Given the description of an element on the screen output the (x, y) to click on. 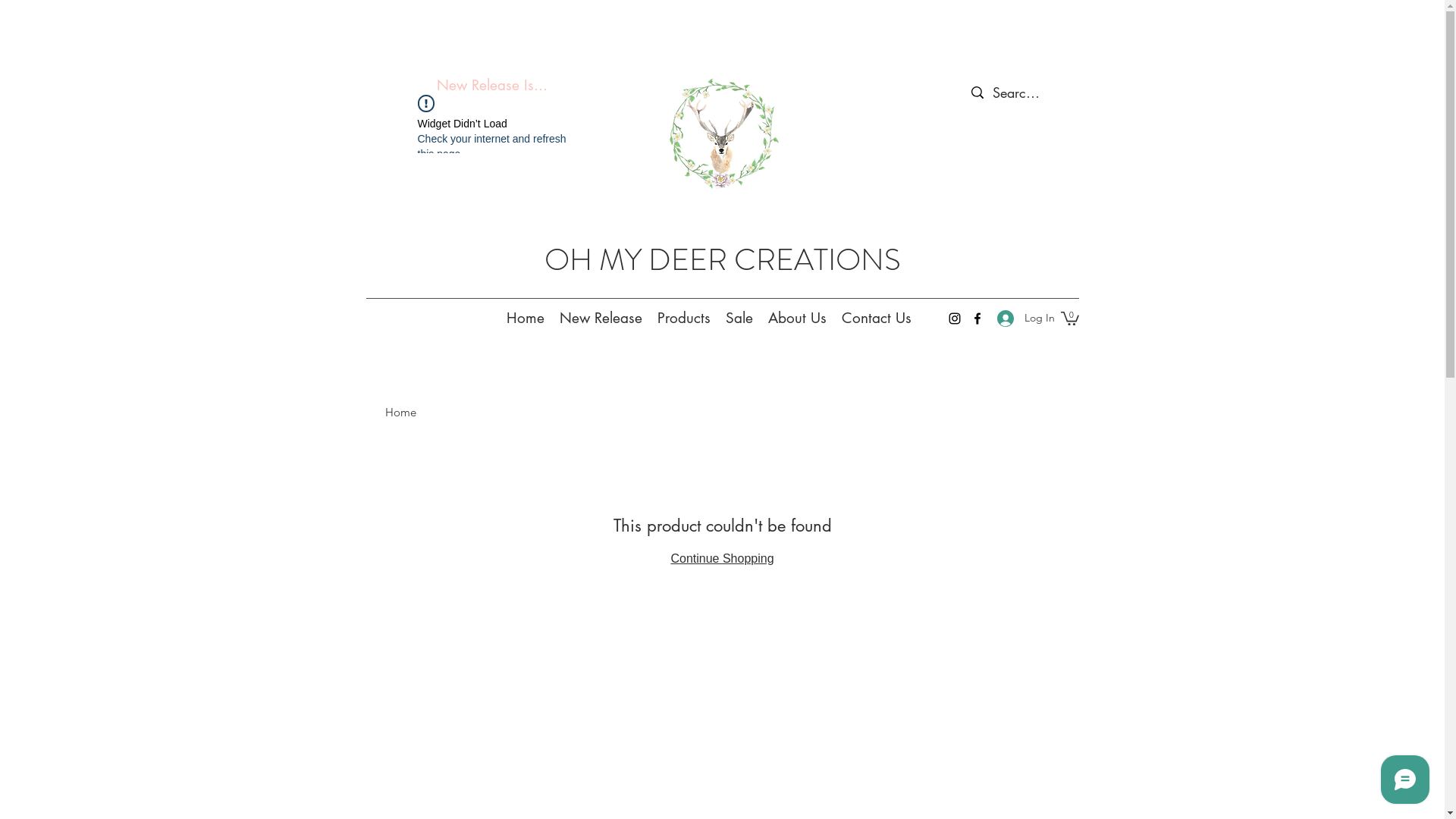
Continue Shopping Element type: text (721, 558)
Contact Us Element type: text (876, 318)
New Release Element type: text (600, 318)
About Us Element type: text (796, 318)
Sale Element type: text (738, 318)
0 Element type: text (1069, 317)
OH MY DEER CREATIONS Element type: text (722, 259)
Log In Element type: text (1019, 318)
Home Element type: text (525, 318)
Home Element type: text (400, 411)
